Given the description of an element on the screen output the (x, y) to click on. 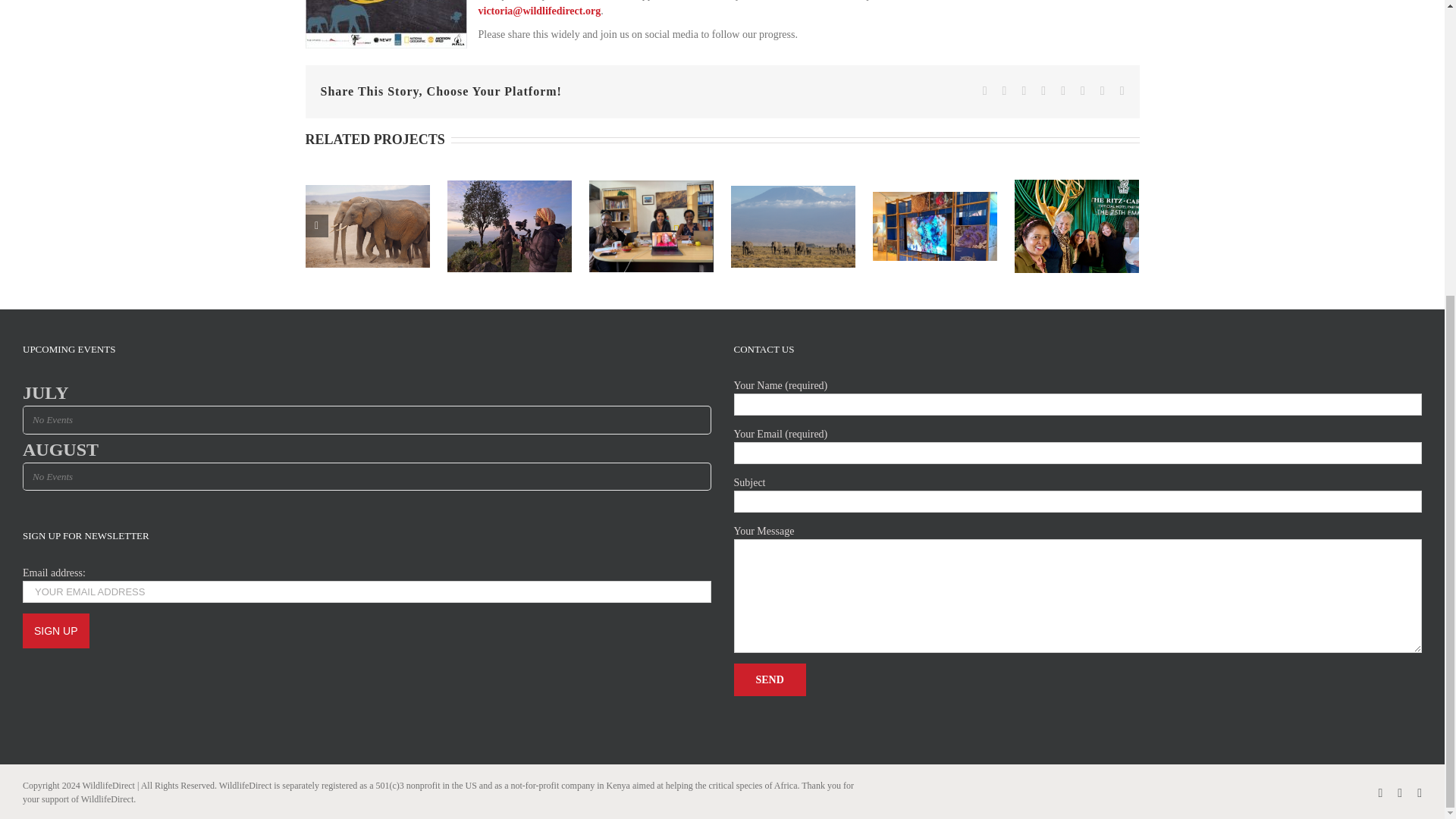
Send (769, 679)
Sign up (55, 630)
